Given the description of an element on the screen output the (x, y) to click on. 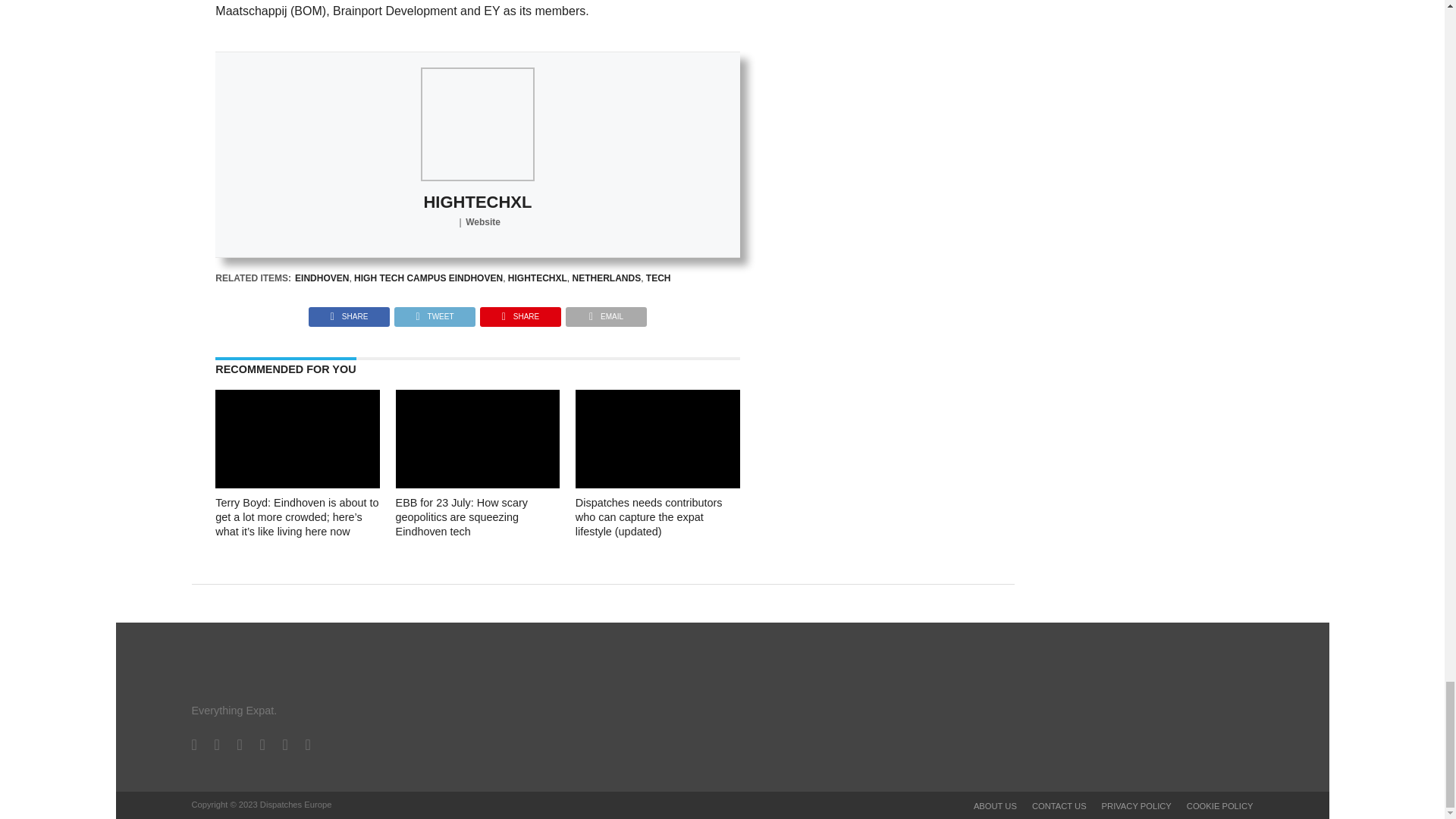
Pin This Post (520, 312)
Tweet This Post (434, 312)
Share on Facebook (349, 312)
